Given the description of an element on the screen output the (x, y) to click on. 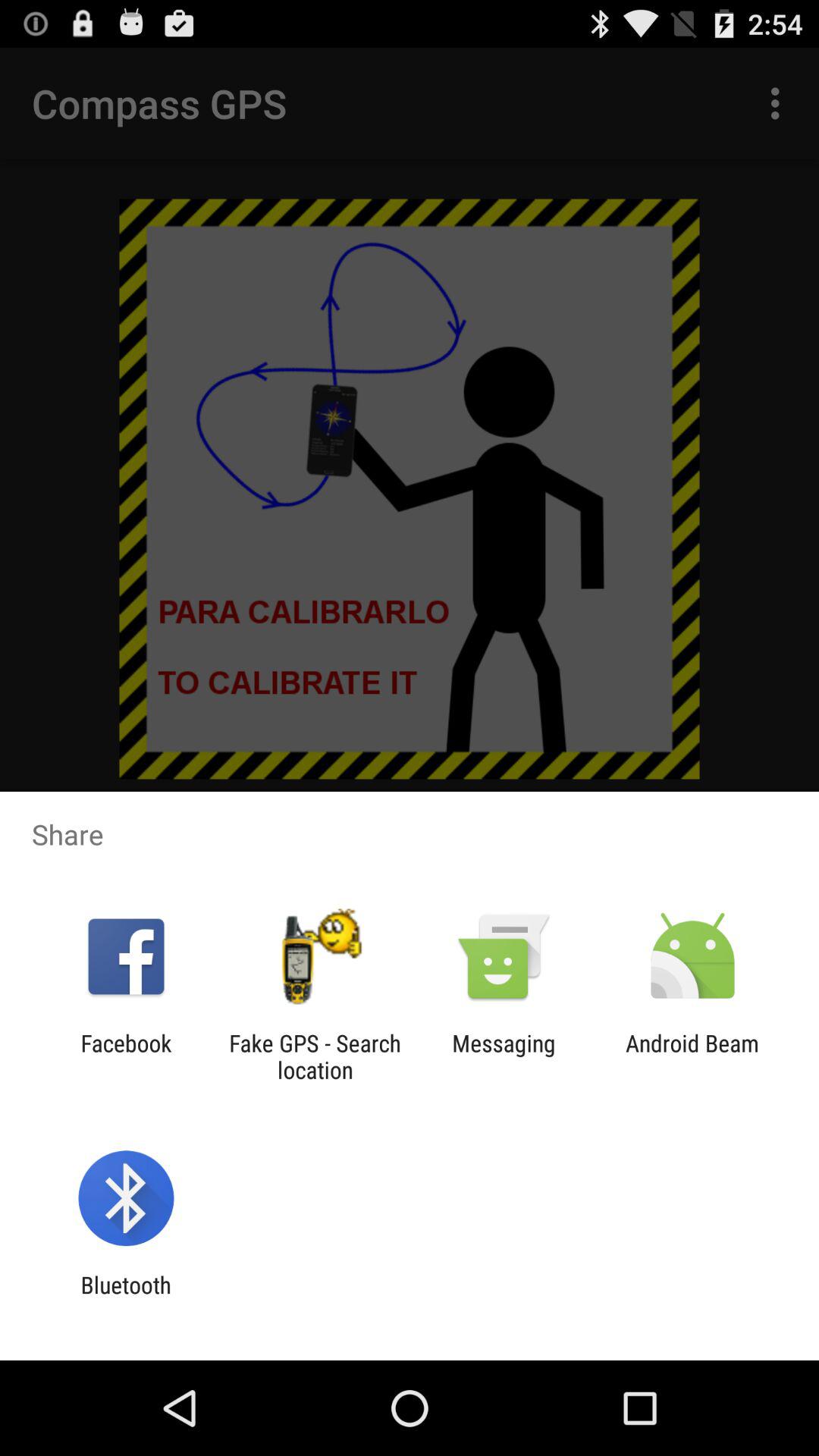
tap item to the left of messaging item (314, 1056)
